Given the description of an element on the screen output the (x, y) to click on. 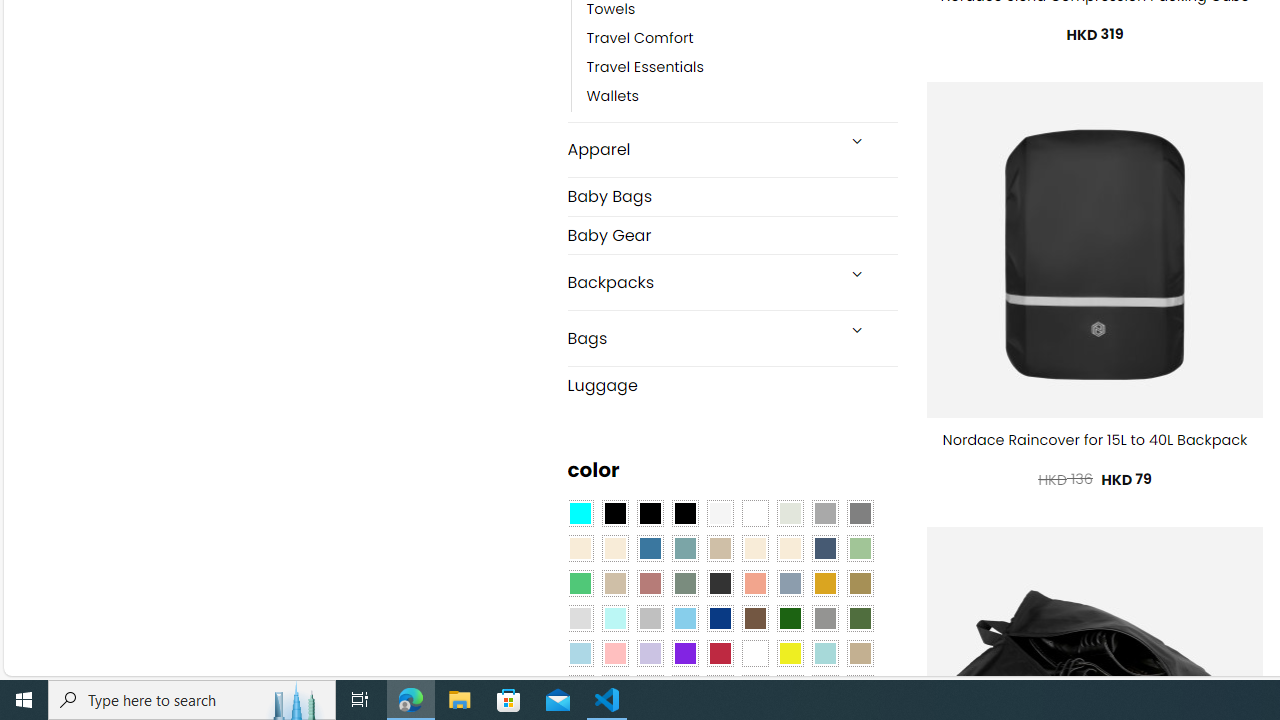
Coral (755, 583)
Khaki (859, 653)
Baby Bags (732, 196)
Light Green (859, 548)
Pearly White (719, 514)
Clear (755, 514)
Backpacks (700, 282)
Wallets (742, 97)
Aqua (824, 653)
Travel Essentials (645, 67)
Apparel (700, 150)
Baby Gear (732, 235)
Yellow (789, 653)
Purple (684, 653)
